Given the description of an element on the screen output the (x, y) to click on. 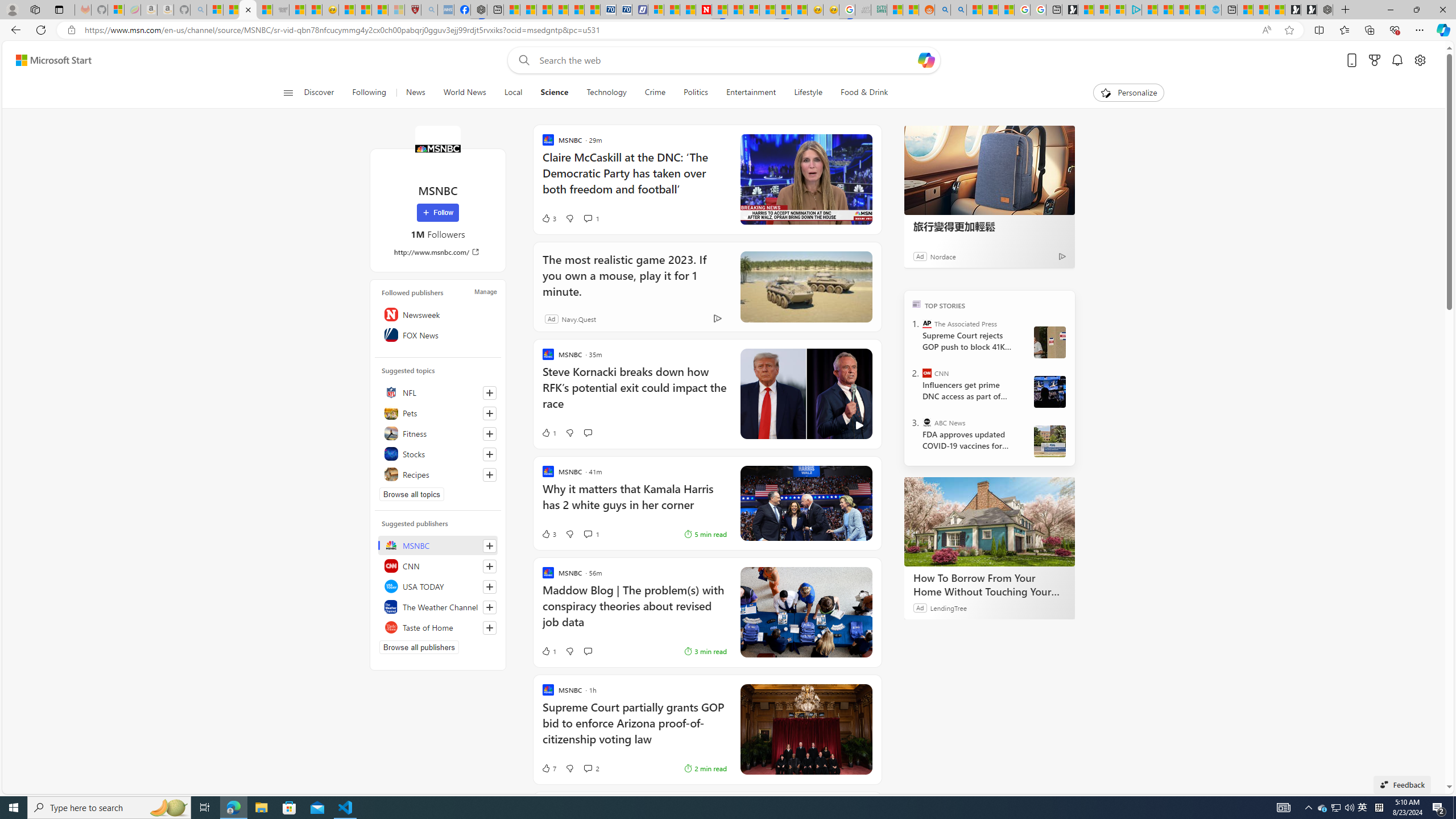
Personalize (1128, 92)
CNN (927, 372)
View comments 1 Comment (591, 533)
Ad Choice (717, 318)
Lifestyle (807, 92)
Science (554, 92)
